Given the description of an element on the screen output the (x, y) to click on. 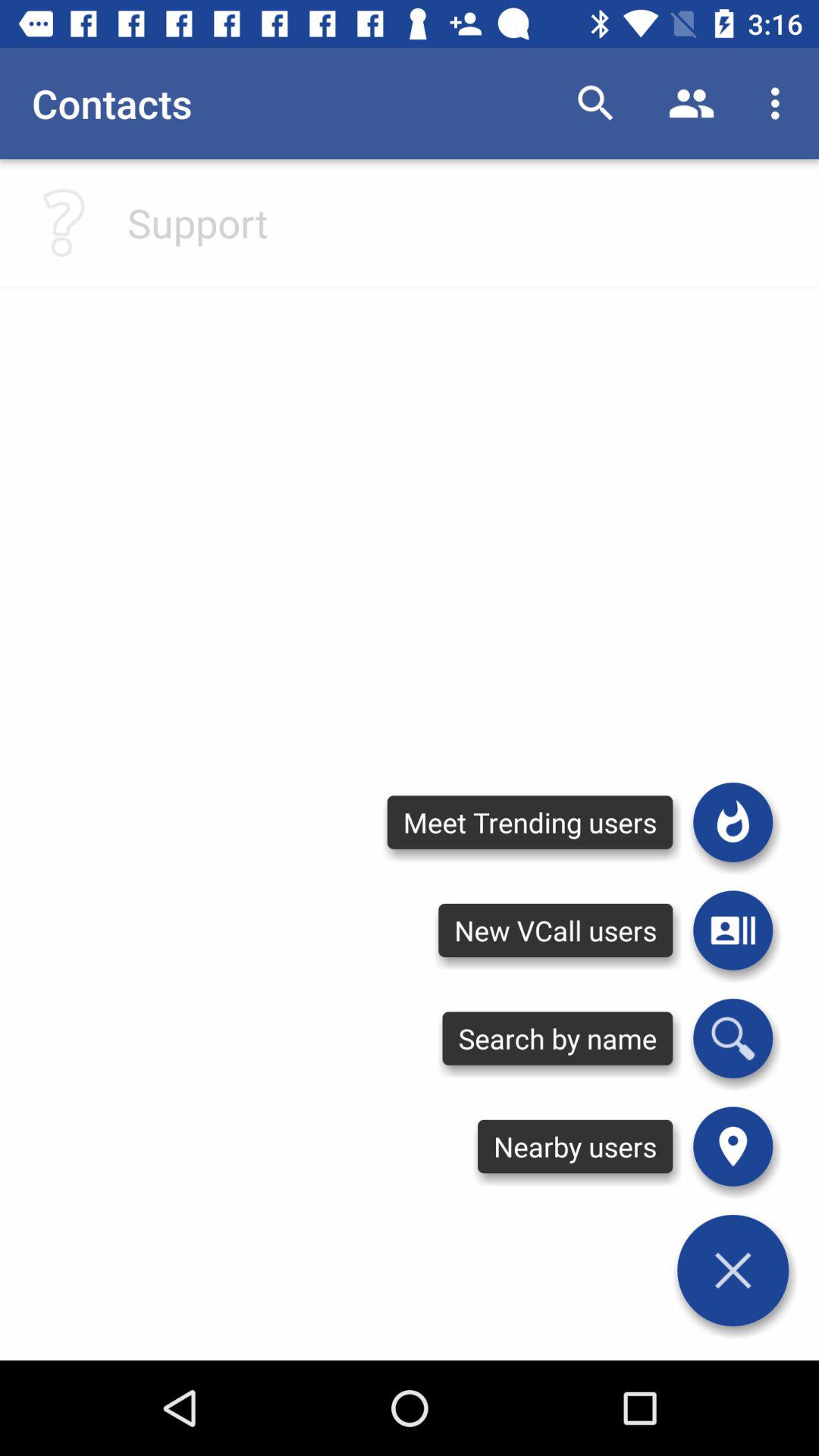
click icon next to new vcall users (733, 1038)
